Given the description of an element on the screen output the (x, y) to click on. 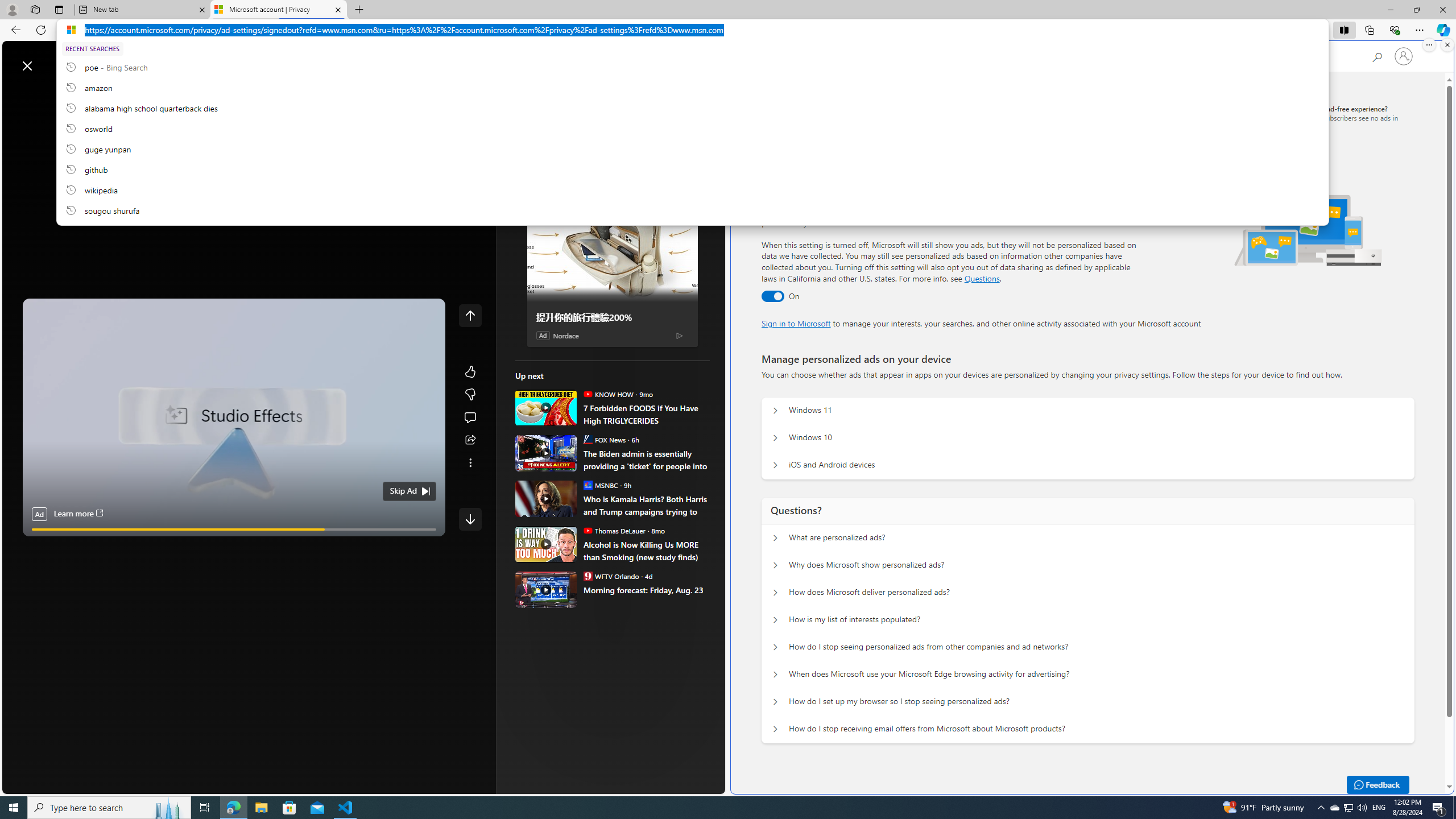
Ad settings toggle (772, 296)
WFTV Orlando WFTV Orlando (610, 575)
Search Microsoft.com (1376, 54)
Web search (161, 60)
KNOW HOW KNOW HOW (607, 393)
About (561, 64)
Morning forecast: Friday, Aug. 23 (545, 588)
Sign in to Microsoft (796, 323)
